Given the description of an element on the screen output the (x, y) to click on. 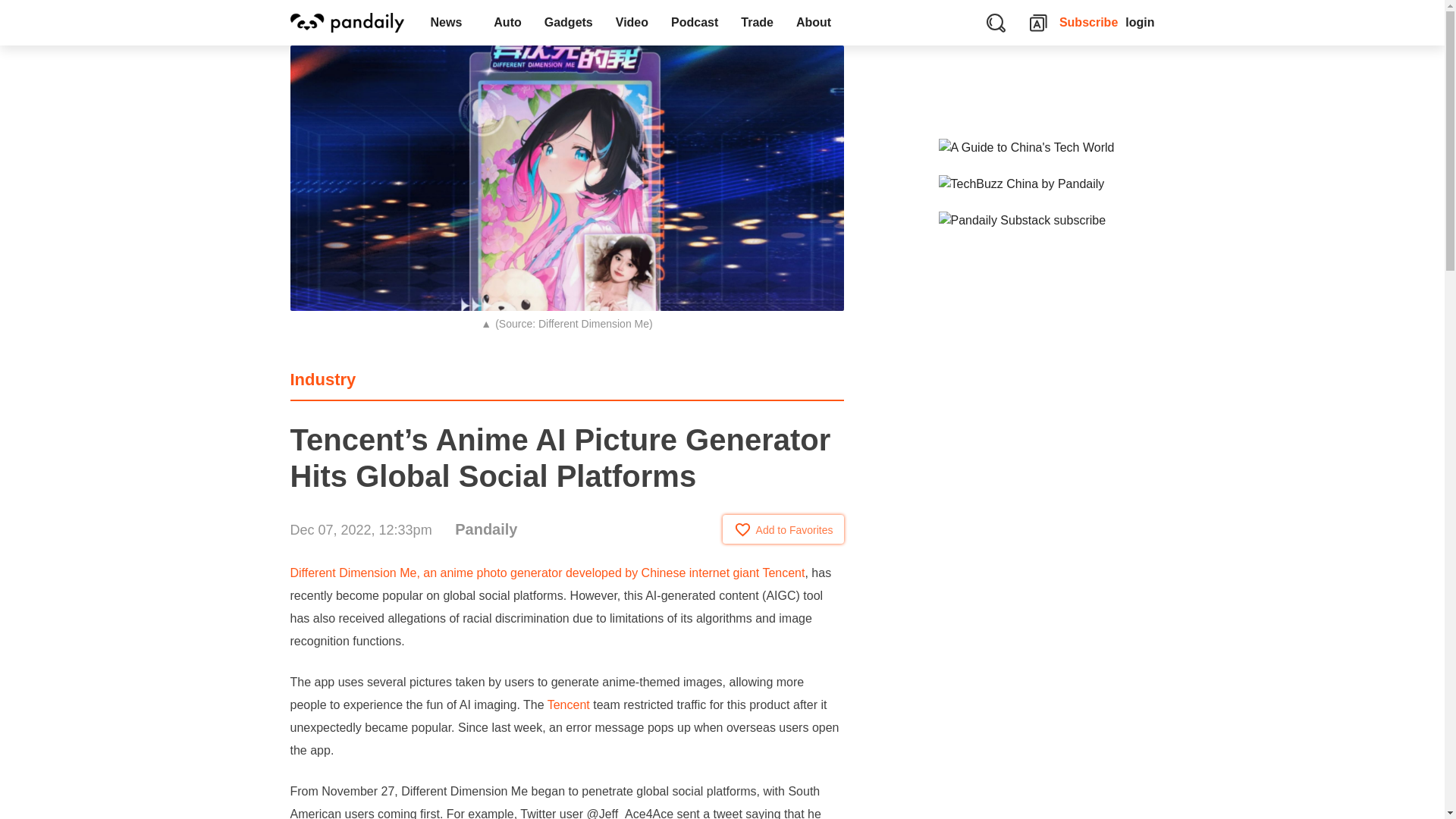
About (817, 22)
Auto (506, 22)
Add to Favorites (783, 529)
Industry (322, 379)
Gadgets (568, 22)
Subscribe (1088, 22)
Trade (756, 22)
Podcast (694, 22)
News (450, 22)
Tencent (568, 704)
Video (631, 22)
login (1139, 22)
Pandaily (485, 528)
Dec 07, 2022, 12:33pm (359, 529)
